Given the description of an element on the screen output the (x, y) to click on. 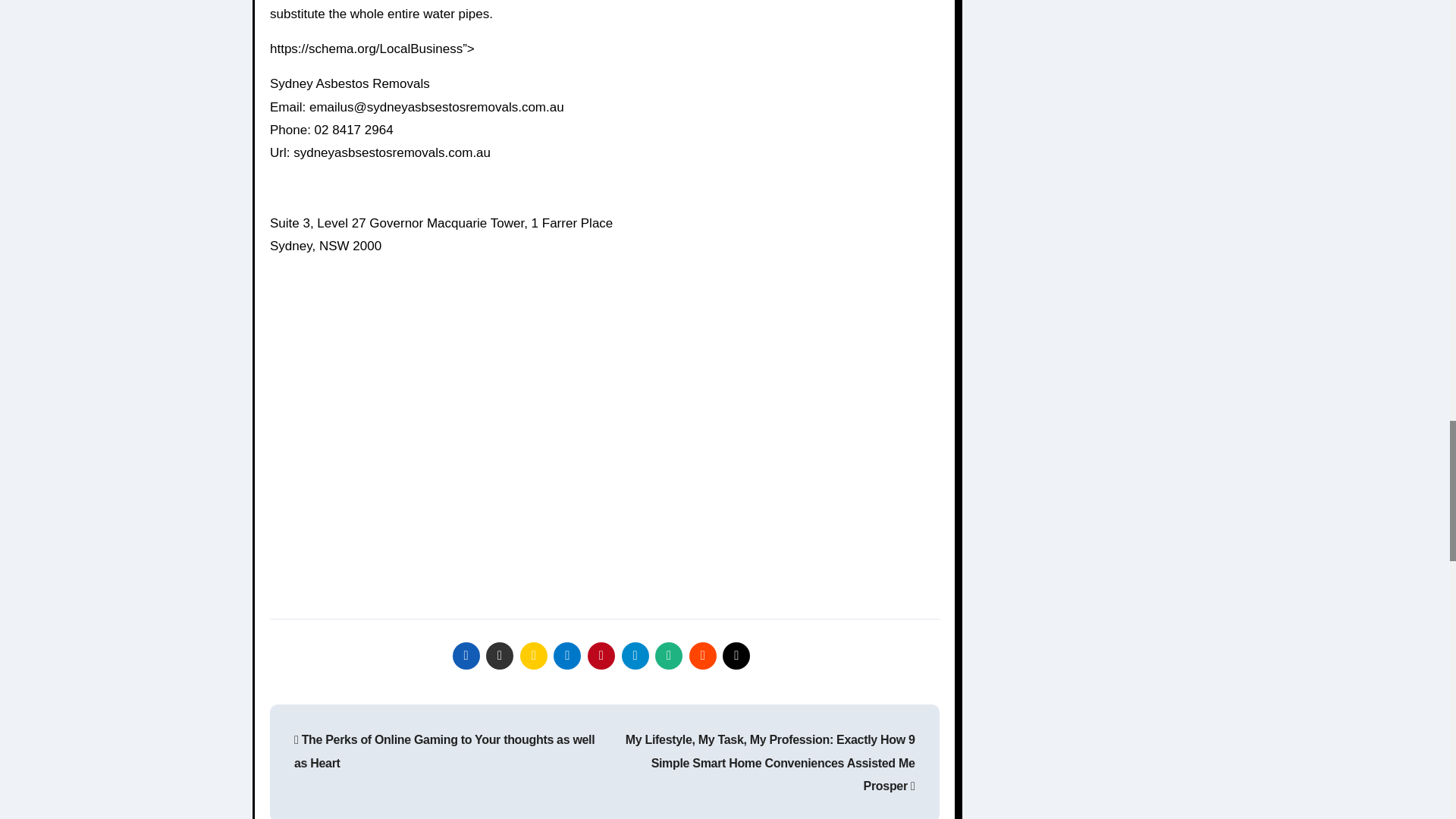
The Perks of Online Gaming to Your thoughts as well as Heart (444, 751)
